Given the description of an element on the screen output the (x, y) to click on. 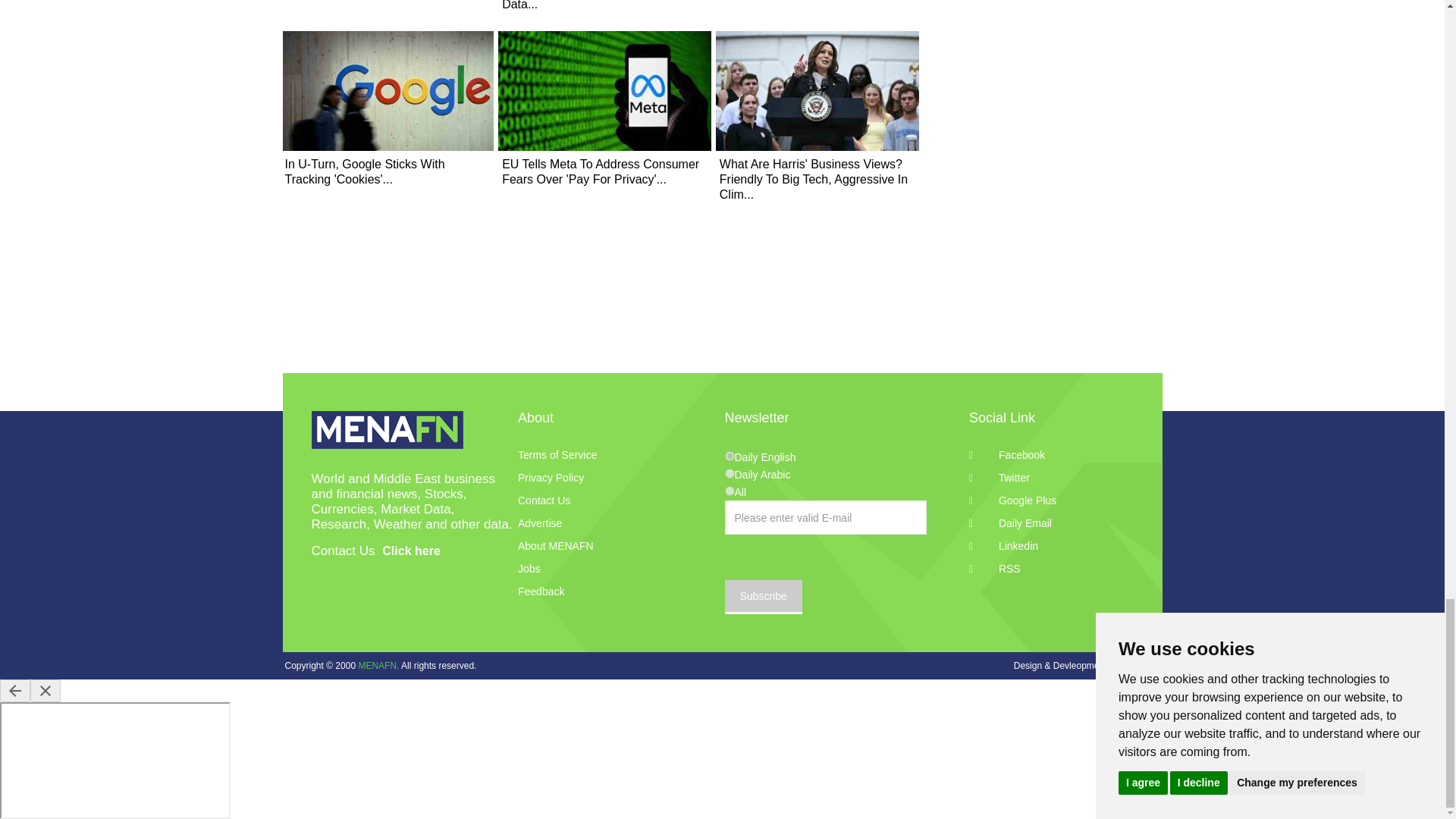
Subscribe (763, 596)
